Given the description of an element on the screen output the (x, y) to click on. 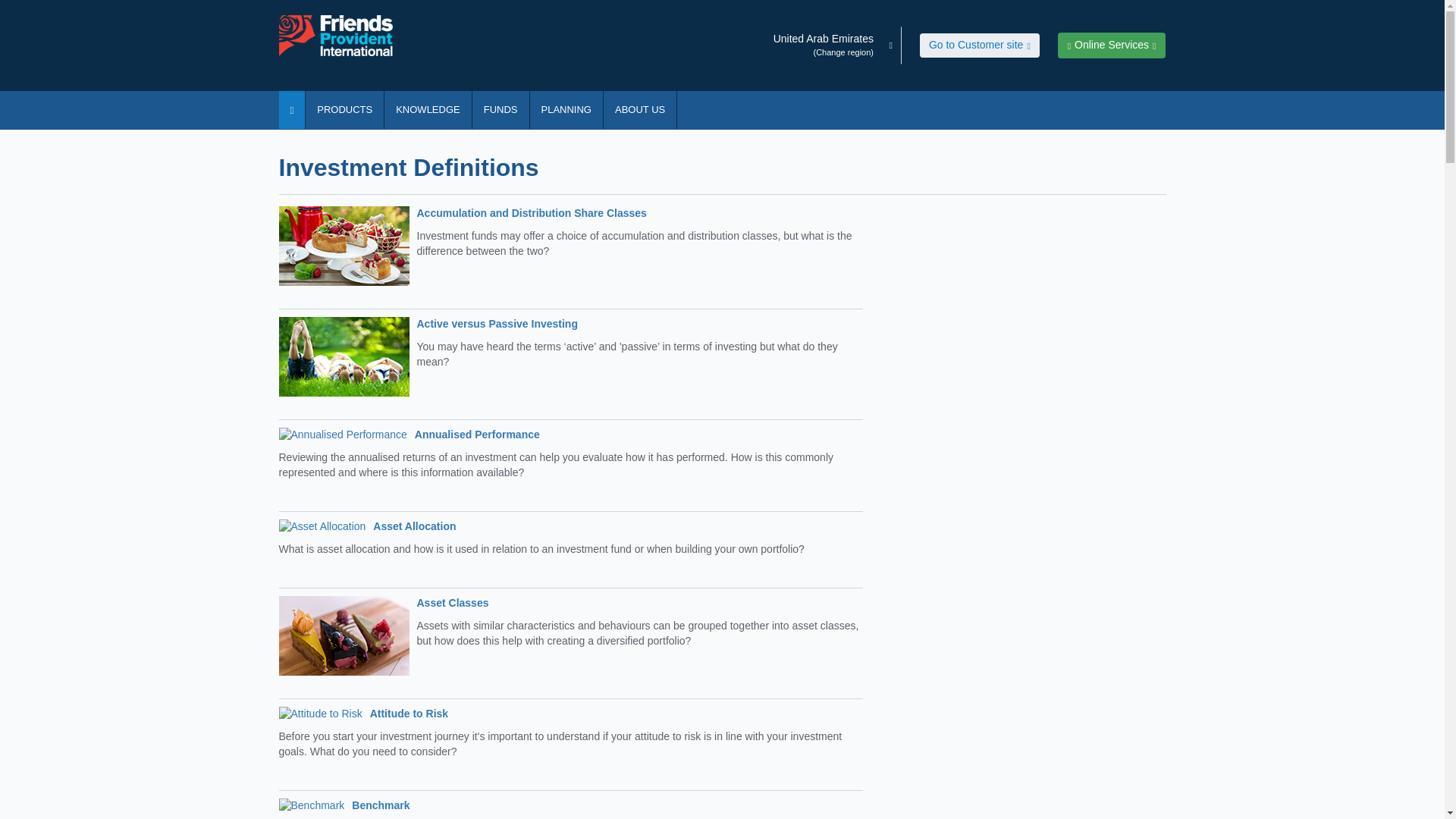
Products (344, 109)
Online Services (1112, 45)
ABOUT US (640, 109)
Knowledge (427, 109)
PRODUCTS (344, 109)
FUNDS (500, 109)
KNOWLEDGE (427, 109)
PLANNING (565, 109)
Middle East Region - Adviser site home page (343, 35)
Online Services (1112, 45)
